Given the description of an element on the screen output the (x, y) to click on. 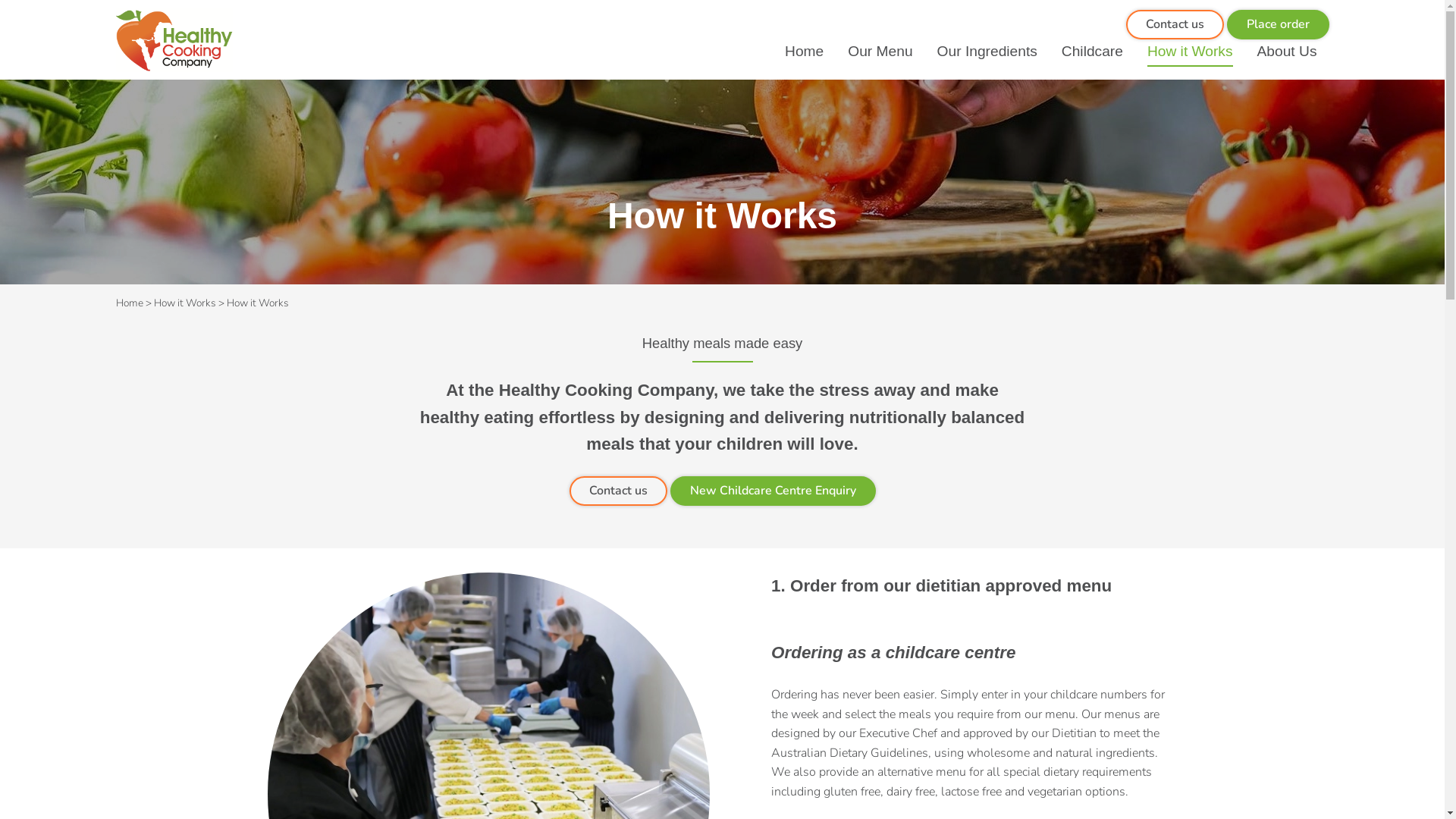
Contact us Element type: text (617, 490)
How it Works Element type: text (184, 302)
Childcare Element type: text (1092, 51)
Our Menu Element type: text (879, 51)
Healthy Cooking Company Element type: hover (173, 40)
Place order Element type: text (1277, 24)
About Us Element type: text (1287, 51)
Home Element type: text (128, 302)
Our Ingredients Element type: text (987, 51)
Contact us Element type: text (1174, 24)
Home Element type: text (803, 51)
New Childcare Centre Enquiry Element type: text (772, 490)
How it Works Element type: text (1190, 51)
